Given the description of an element on the screen output the (x, y) to click on. 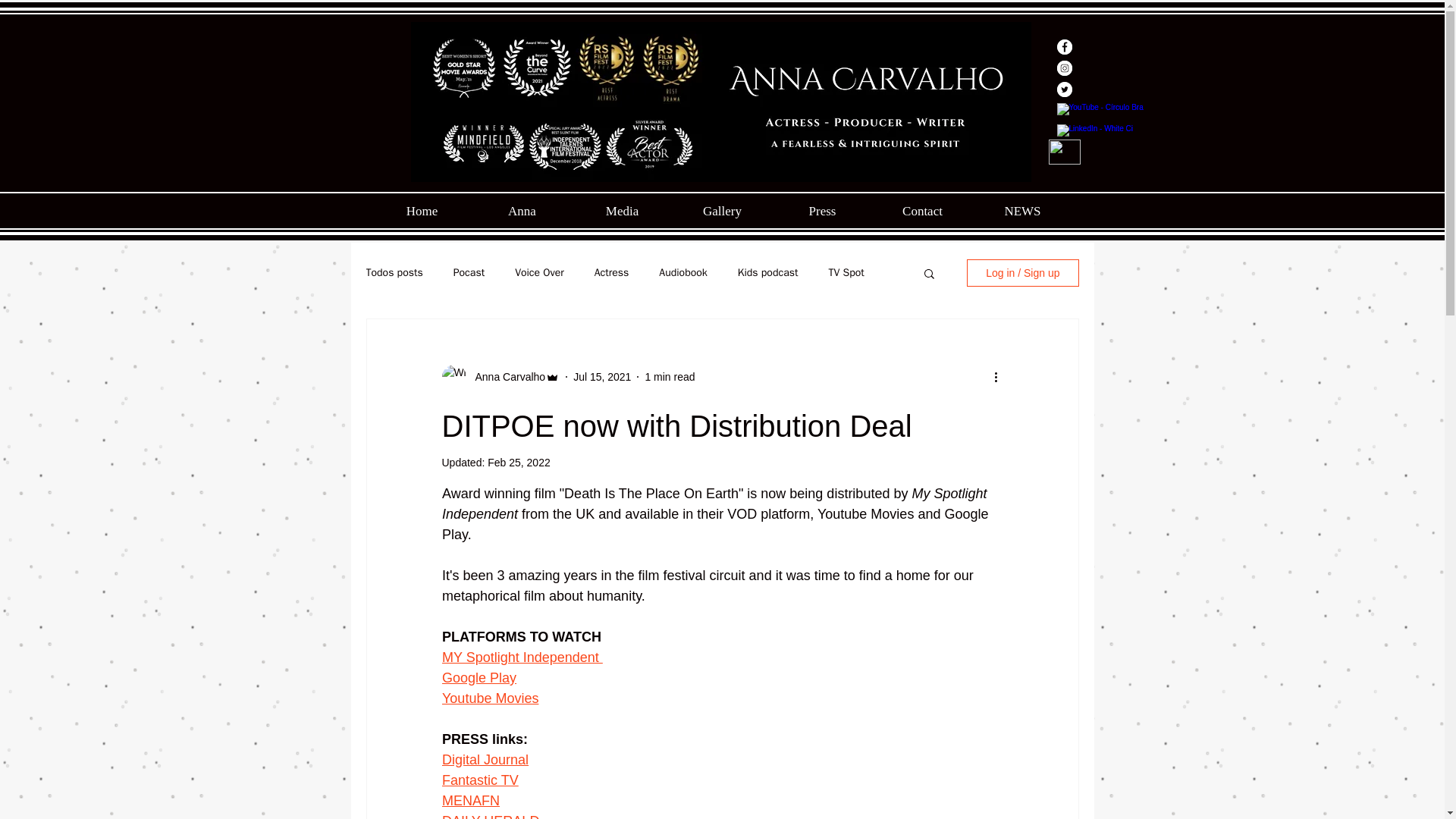
Feb 25, 2022 (518, 462)
NEWS (1021, 211)
TV Spot (845, 273)
Voice Over (539, 273)
Press (821, 211)
Jul 15, 2021 (601, 376)
Gallery (721, 211)
1 min read (669, 376)
Audiobook (682, 273)
Kids podcast (767, 273)
Contact (922, 211)
Anna Carvalho  (504, 376)
Home (421, 211)
Anna (521, 211)
Pocast (468, 273)
